Given the description of an element on the screen output the (x, y) to click on. 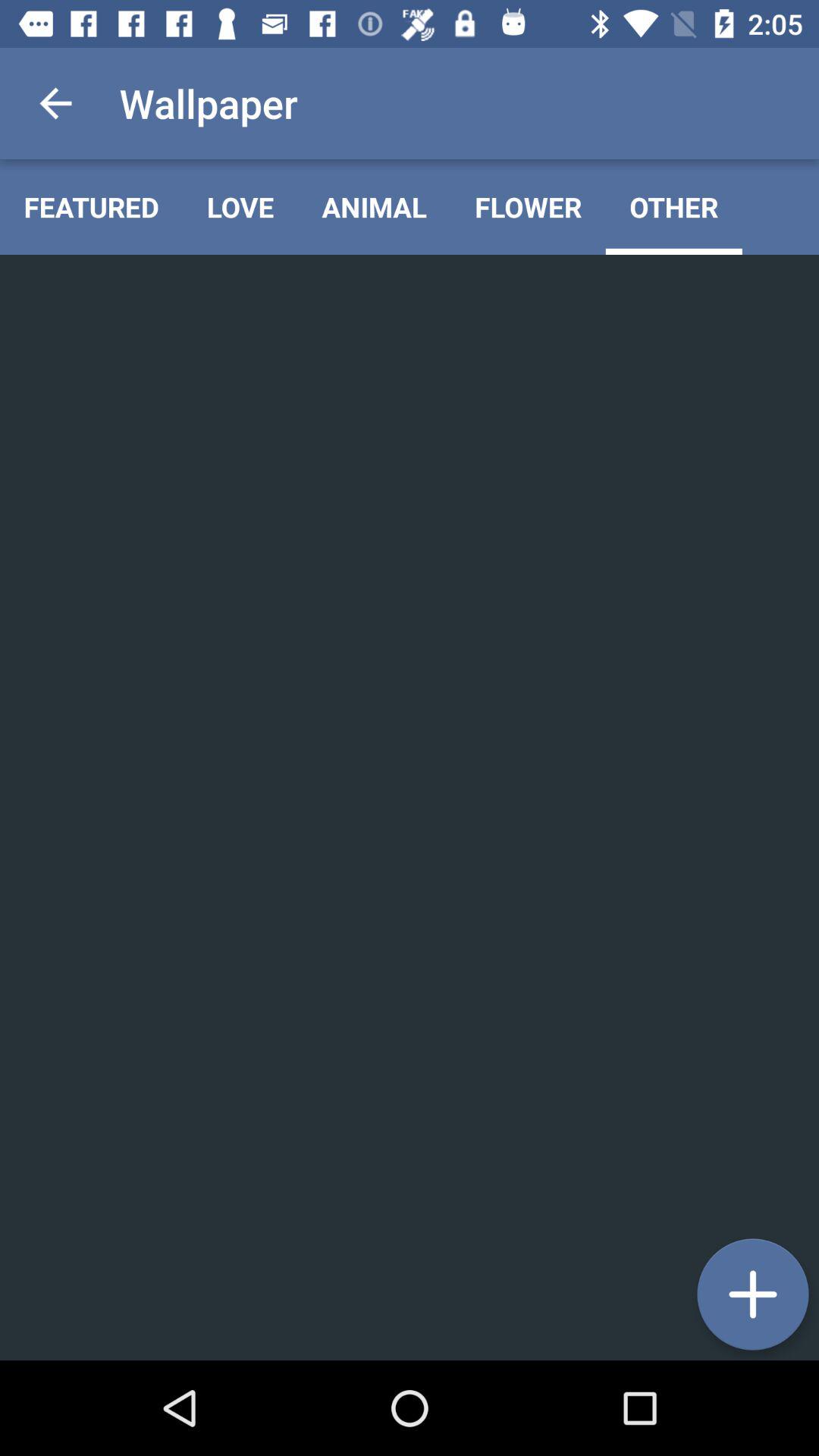
click love item (240, 206)
